Given the description of an element on the screen output the (x, y) to click on. 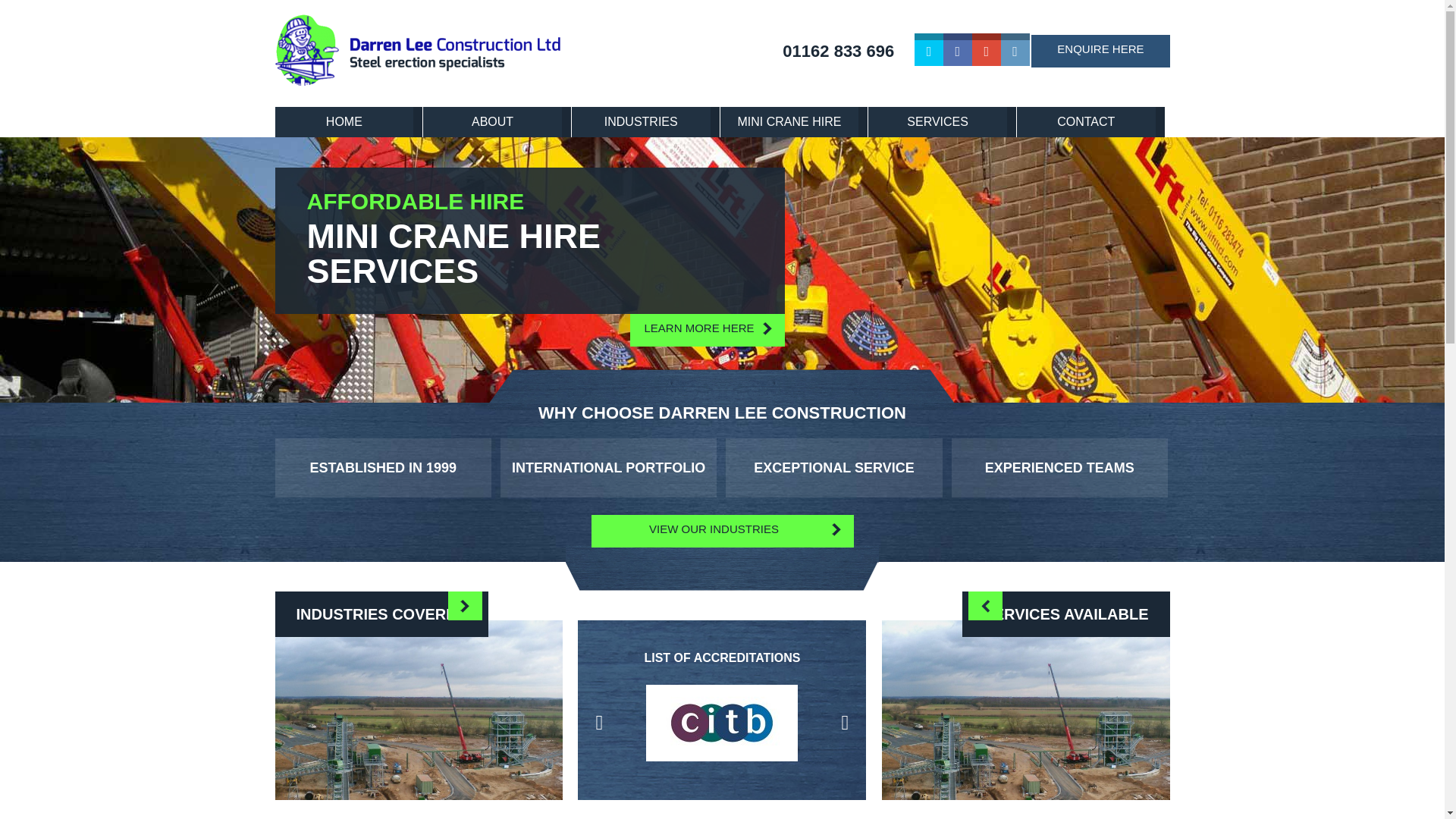
01162 833 696 (838, 51)
CONTACT (1090, 122)
MINI CRANE HIRE (793, 122)
SERVICES AVAILABLE (1026, 719)
Link to contact us (1099, 51)
Call Today (838, 51)
ENQUIRE HERE (1099, 51)
Read more link (1026, 719)
Link to page (722, 531)
ABOUT (496, 122)
INDUSTRIES COVERED (418, 712)
INDUSTRIES (645, 122)
SERVICES (941, 122)
VIEW OUR INDUSTRIES (722, 531)
Read more link (418, 712)
